Given the description of an element on the screen output the (x, y) to click on. 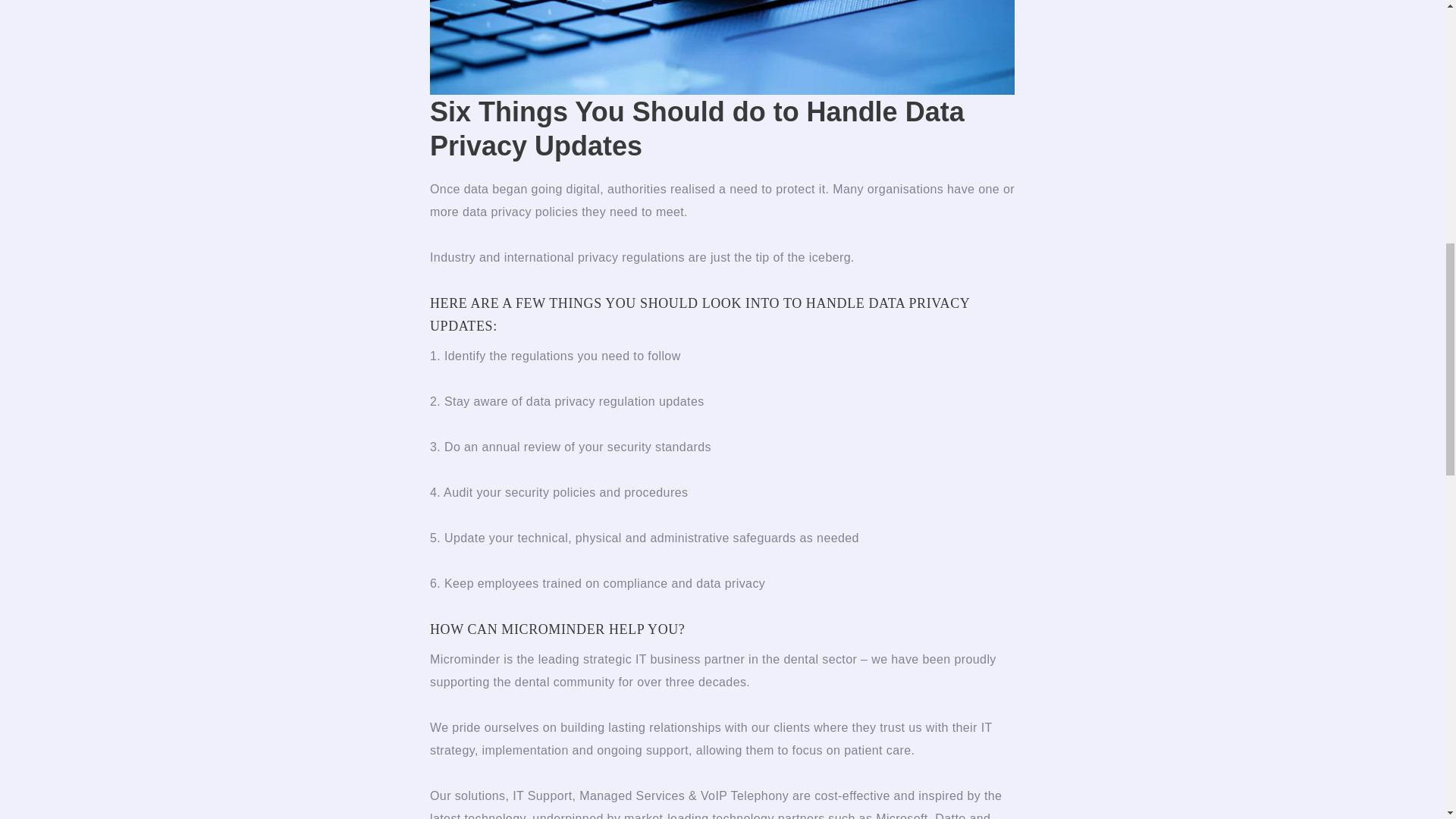
HOW CAN MICROMINDER HELP YOU?  (558, 629)
